Given the description of an element on the screen output the (x, y) to click on. 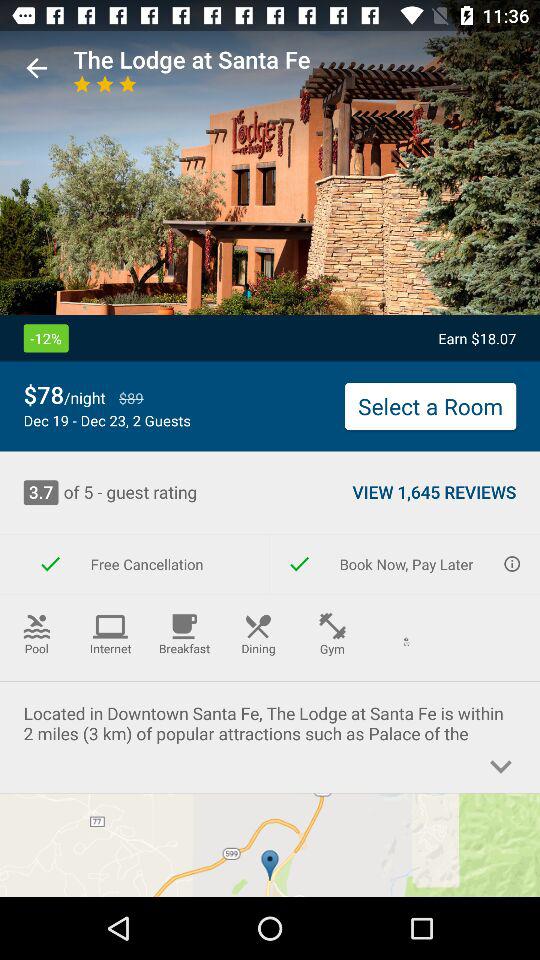
open item next to the lodge at icon (36, 68)
